Given the description of an element on the screen output the (x, y) to click on. 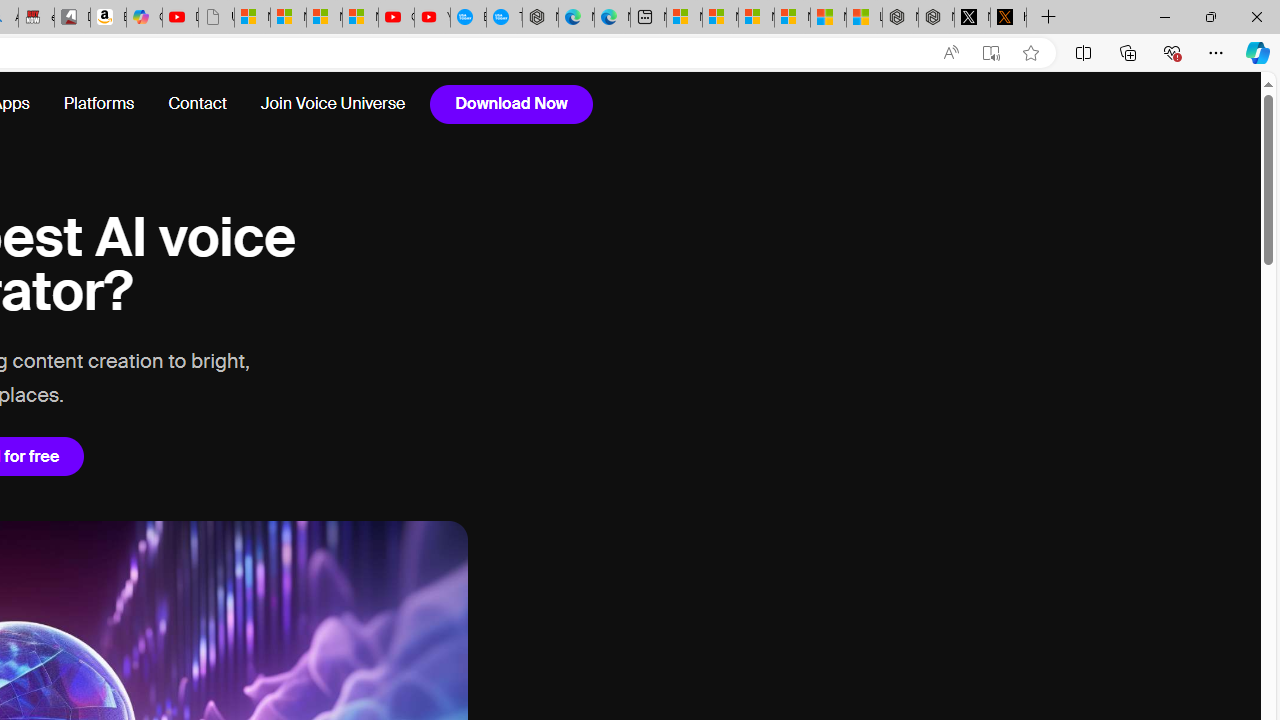
Platforms (99, 103)
Nordace - Nordace has arrived Hong Kong (540, 17)
Microsoft account | Microsoft Account Privacy Settings (720, 17)
Download Now (511, 103)
Nordace (@NordaceOfficial) / X (971, 17)
Join Voice Universe (332, 103)
Gloom - YouTube (395, 17)
help.x.com | 524: A timeout occurred (1008, 17)
The most popular Google 'how to' searches (504, 17)
Platforms (98, 103)
